Given the description of an element on the screen output the (x, y) to click on. 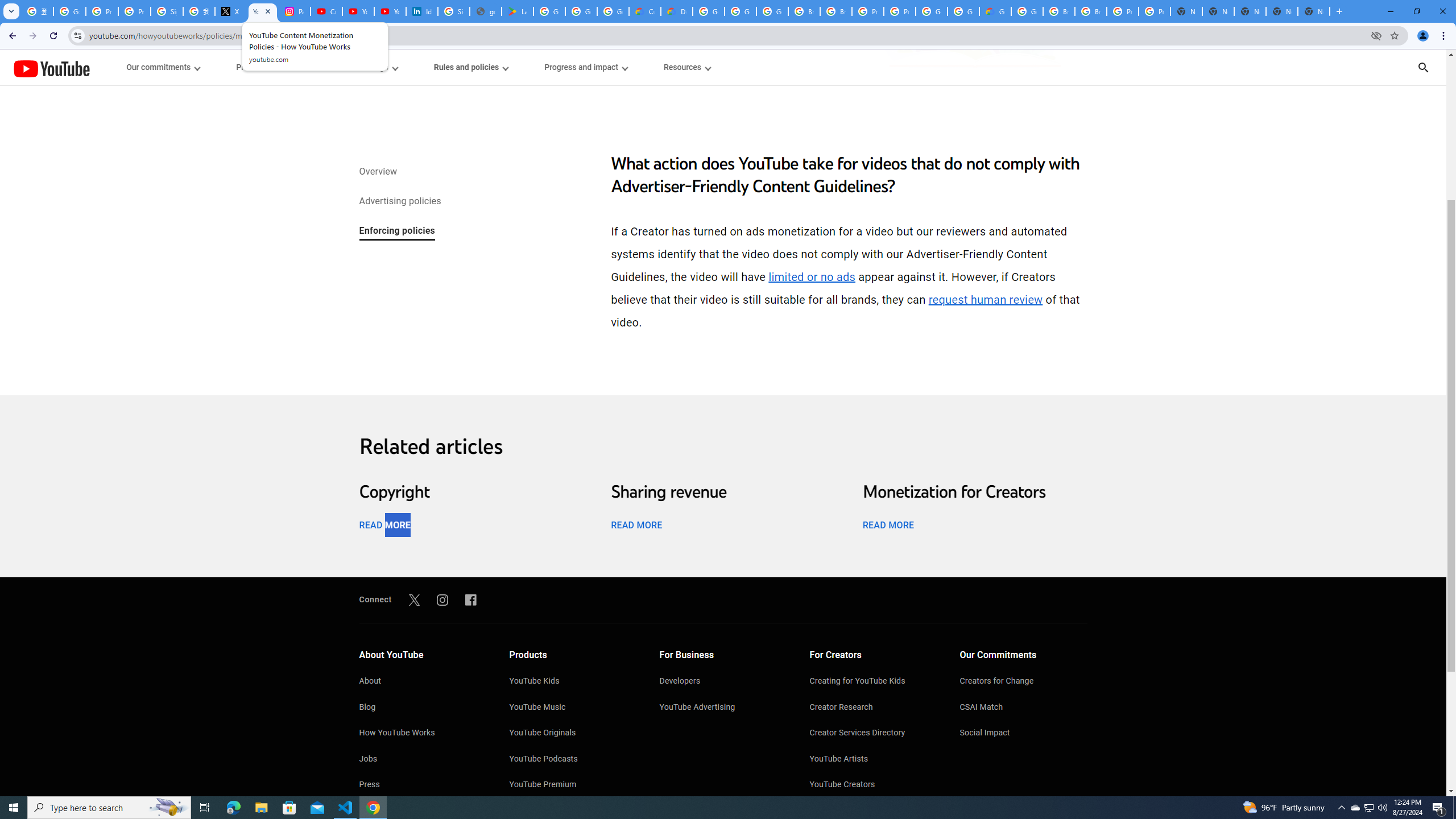
YouTube (51, 68)
Creator Services Directory (873, 733)
Identity verification via Persona | LinkedIn Help (421, 11)
Creators for Change (1023, 682)
Creator Research (873, 708)
Twitter (413, 599)
Bookmark this tab (1393, 35)
Google Cloud Platform (963, 11)
YouTube Creators (873, 785)
